Given the description of an element on the screen output the (x, y) to click on. 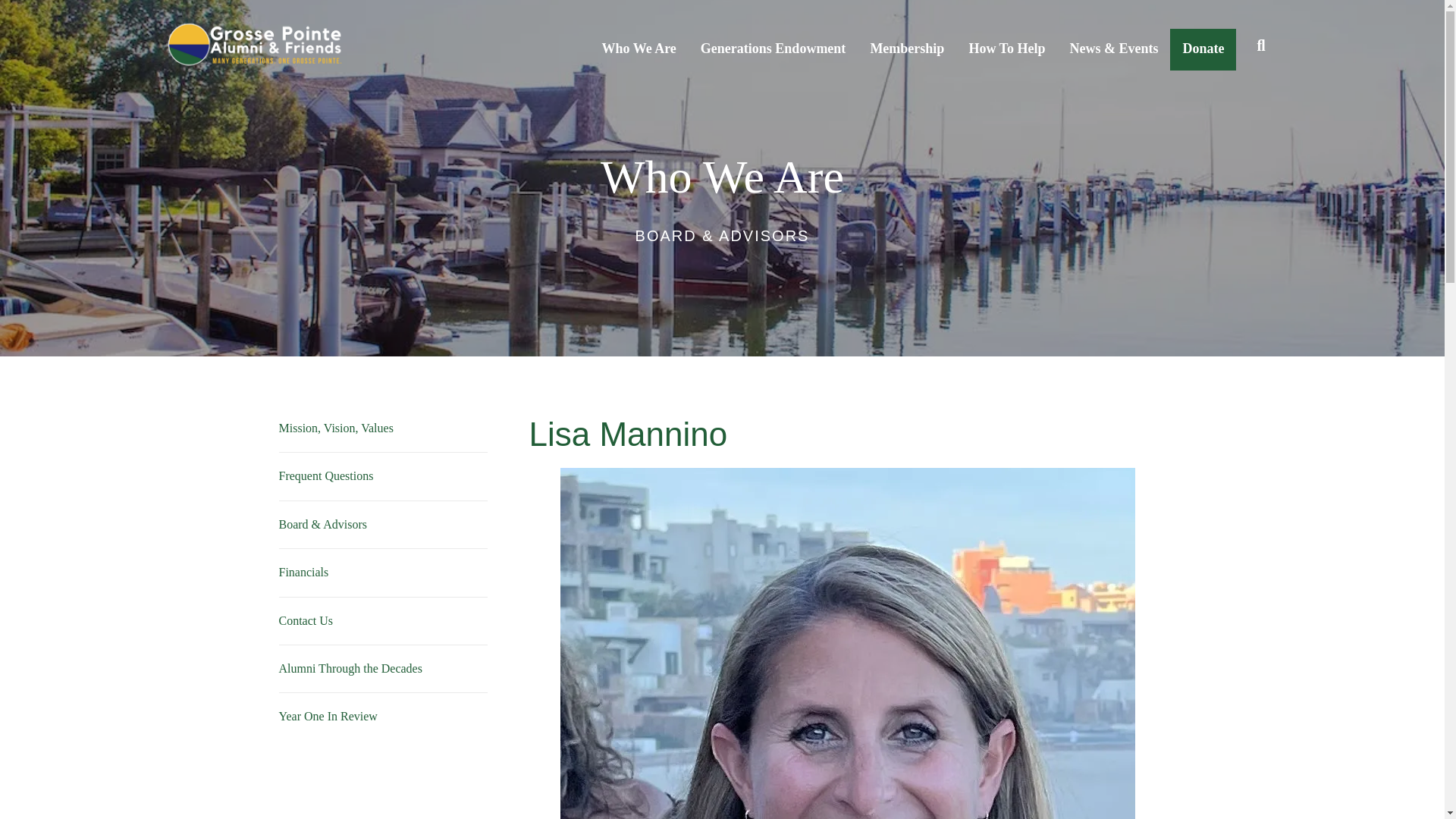
Who We Are (639, 44)
logo (254, 45)
